Given the description of an element on the screen output the (x, y) to click on. 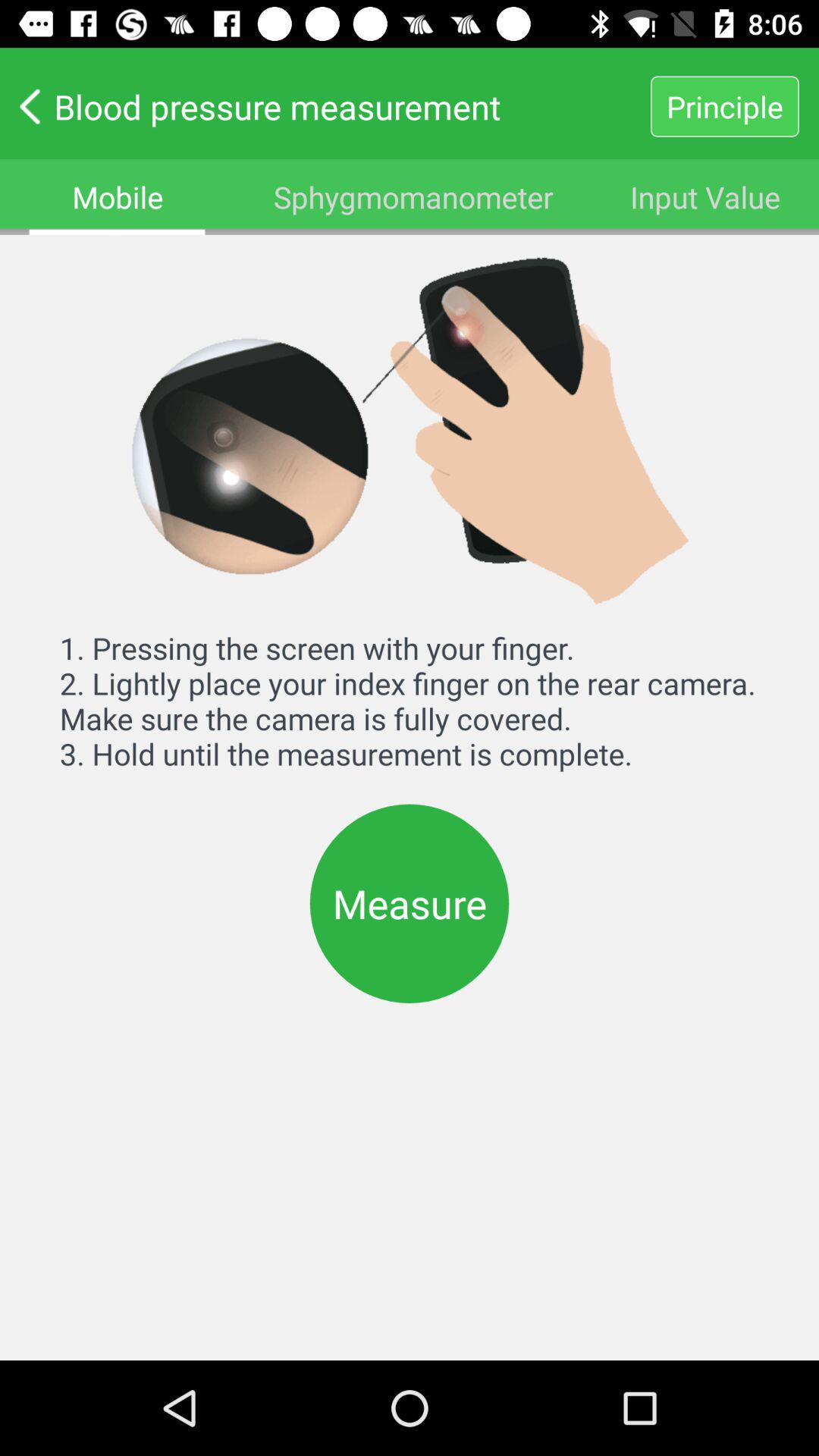
tap the item above mobile icon (325, 106)
